Given the description of an element on the screen output the (x, y) to click on. 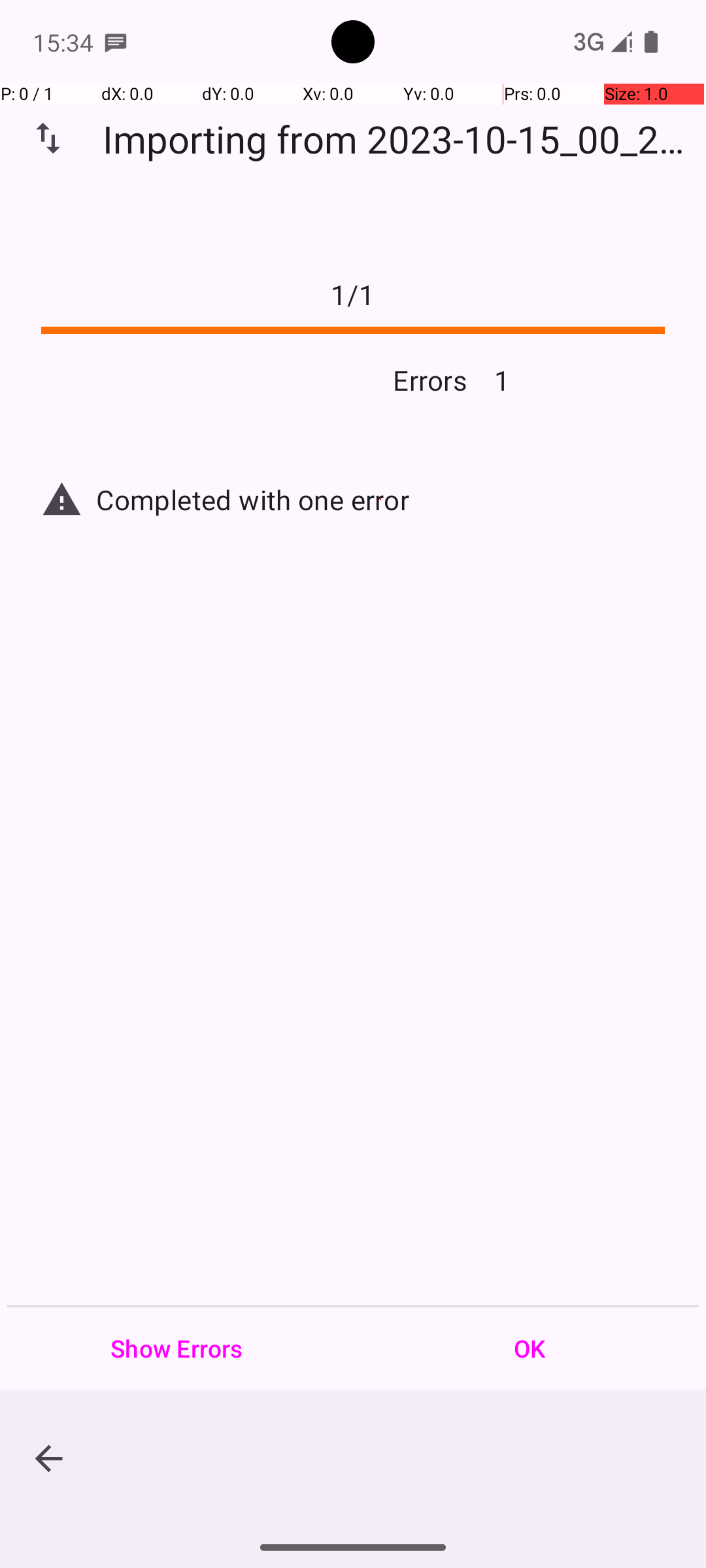
Importing from 2023-10-15_00_22_Paddle Outing.kmz… Element type: android.widget.TextView (400, 138)
Show Errors Element type: android.widget.Button (176, 1348)
/ Element type: android.widget.TextView (352, 293)
Errors Element type: android.widget.TextView (246, 379)
Completed with one error Element type: android.widget.TextView (380, 499)
